Given the description of an element on the screen output the (x, y) to click on. 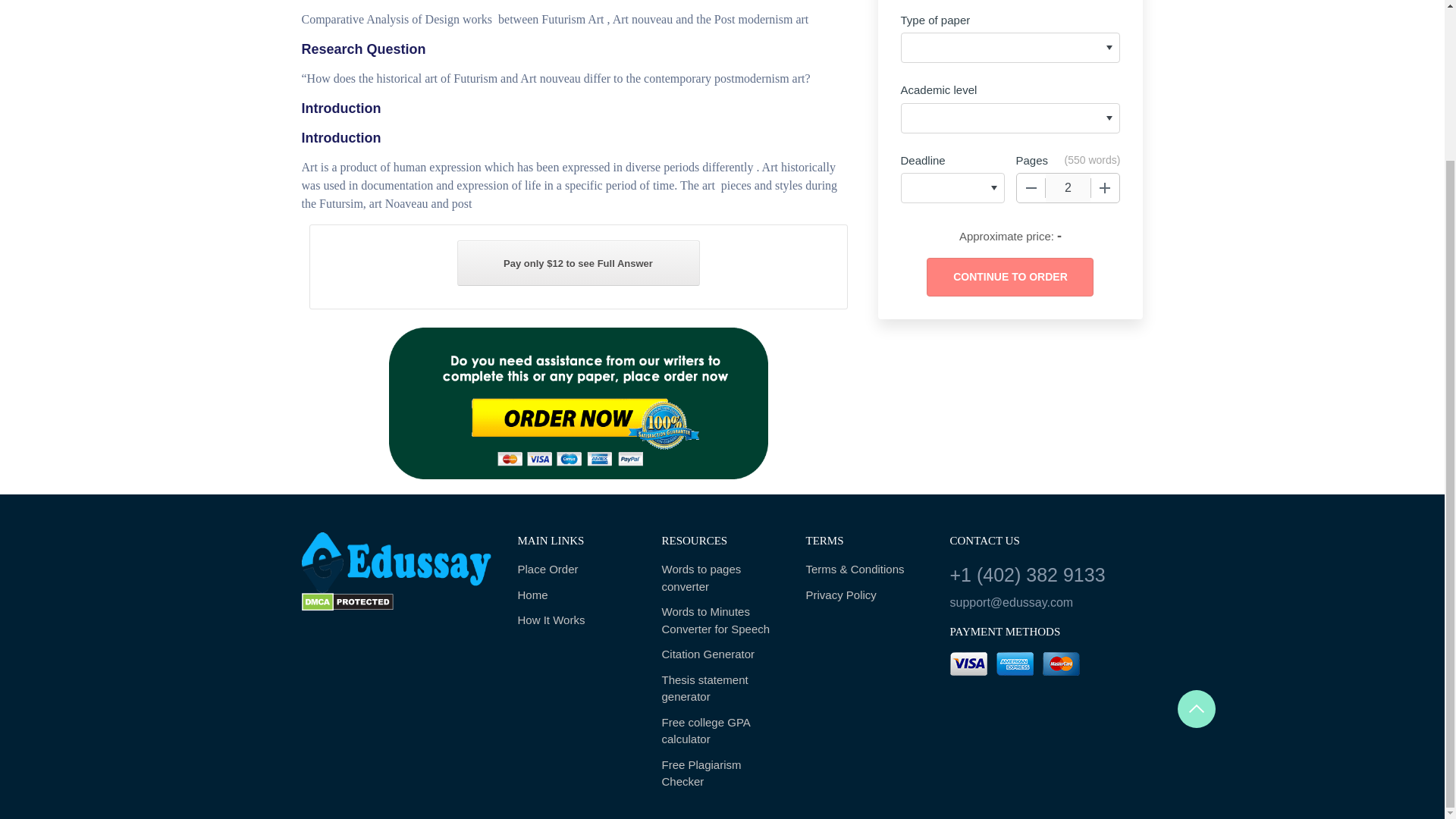
Free Plagiarism Checker (722, 773)
Place Order (577, 570)
DMCA.com Protection Status (347, 601)
2 (1067, 187)
Continue to order (1009, 276)
Place Order (577, 570)
How It Works (577, 620)
Decrease (1030, 187)
Free college GPA calculator (722, 731)
Privacy Policy (865, 596)
Increase (1104, 187)
Continue to order (1009, 276)
Citation Generator (722, 655)
How It Works (577, 620)
Thesis statement generator (722, 688)
